Given the description of an element on the screen output the (x, y) to click on. 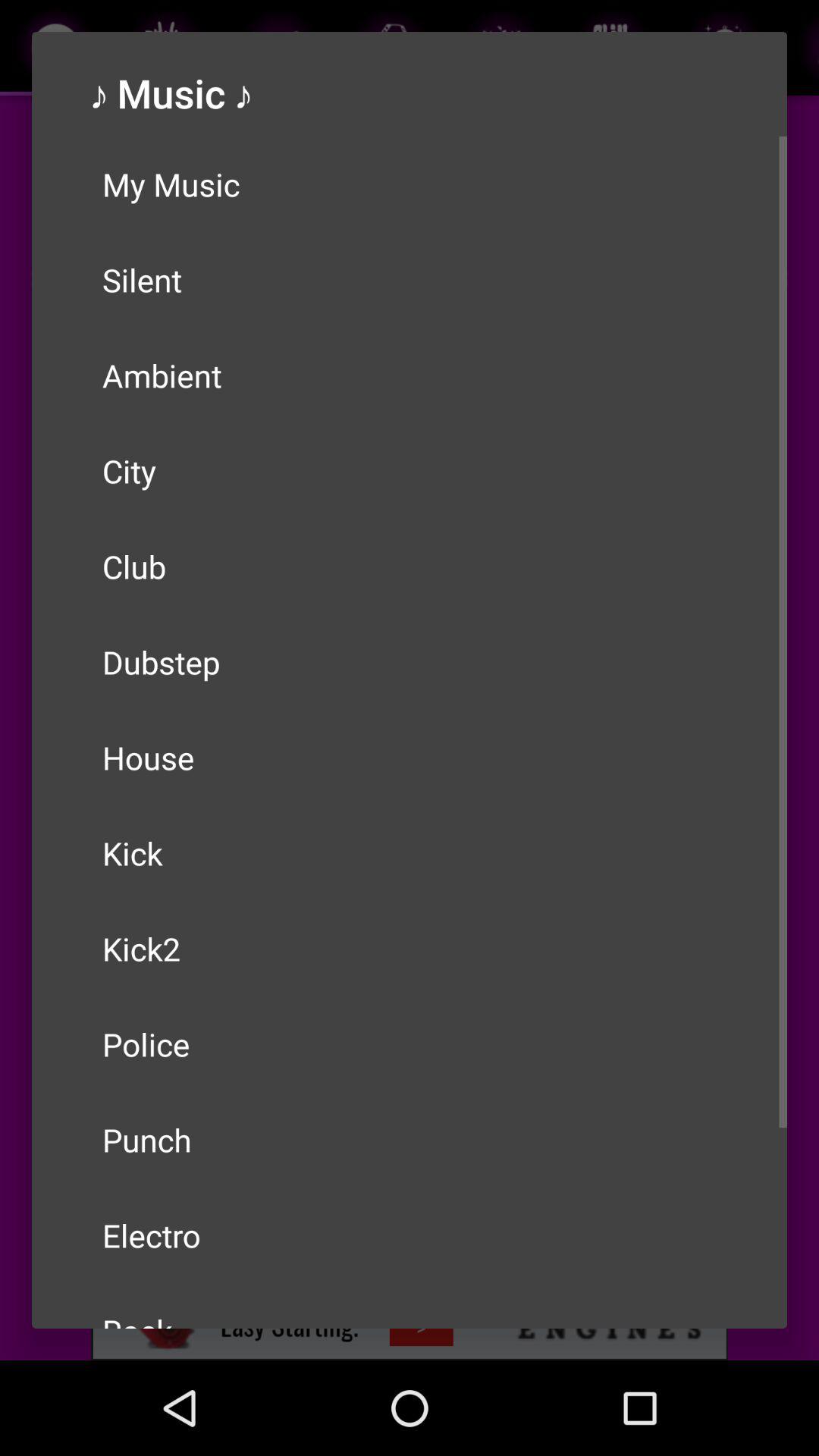
click the icon above the 		house (409, 661)
